Given the description of an element on the screen output the (x, y) to click on. 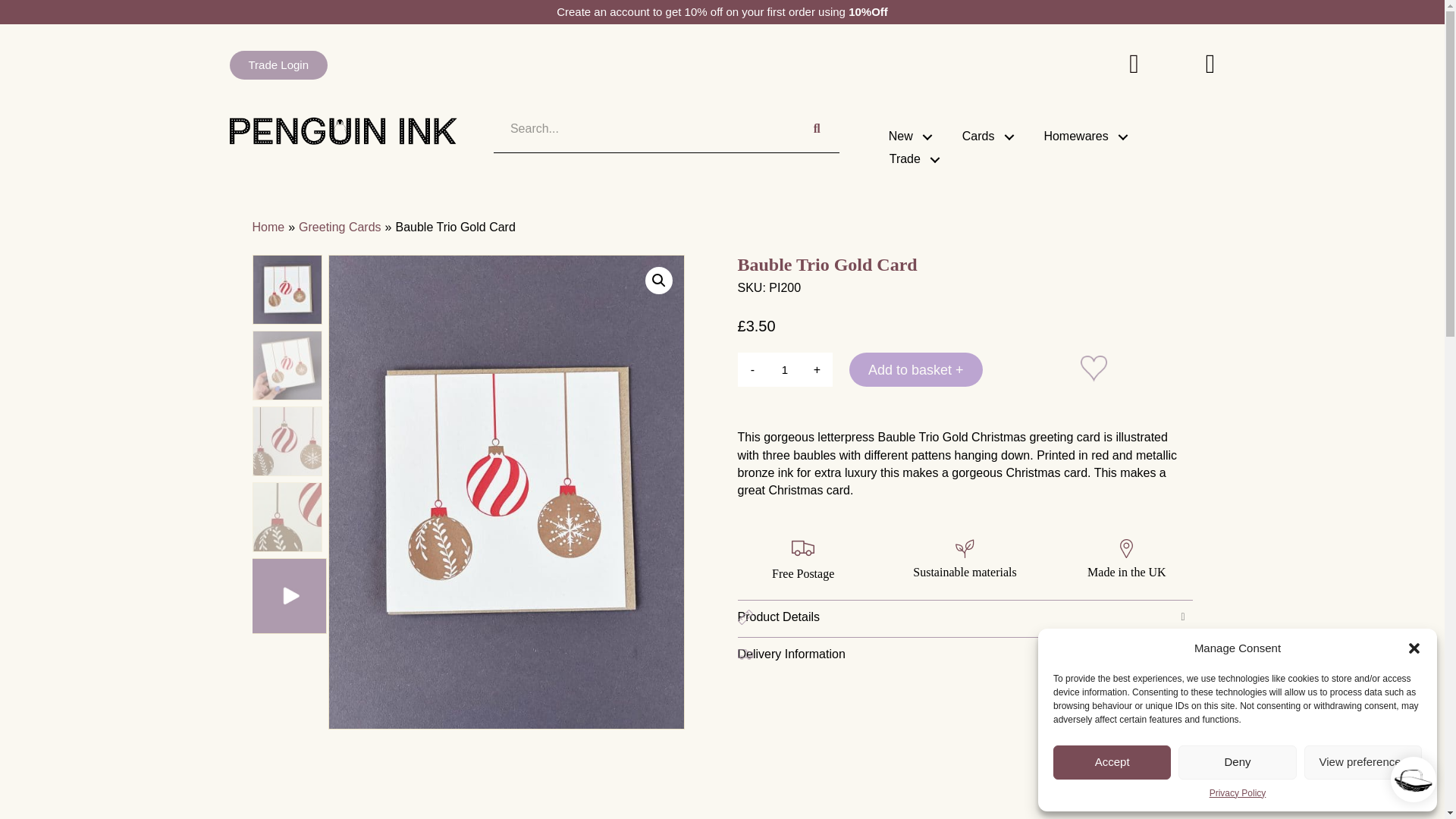
Qty (784, 369)
Trade Login (277, 64)
IconSustain (964, 547)
Accept (1111, 762)
Free Postage (802, 548)
View preferences (1363, 762)
New (905, 130)
Cards (984, 130)
1 (784, 369)
Made-in-the-UK-1.png (1125, 547)
Deny (1236, 762)
Privacy Policy (1237, 793)
